Given the description of an element on the screen output the (x, y) to click on. 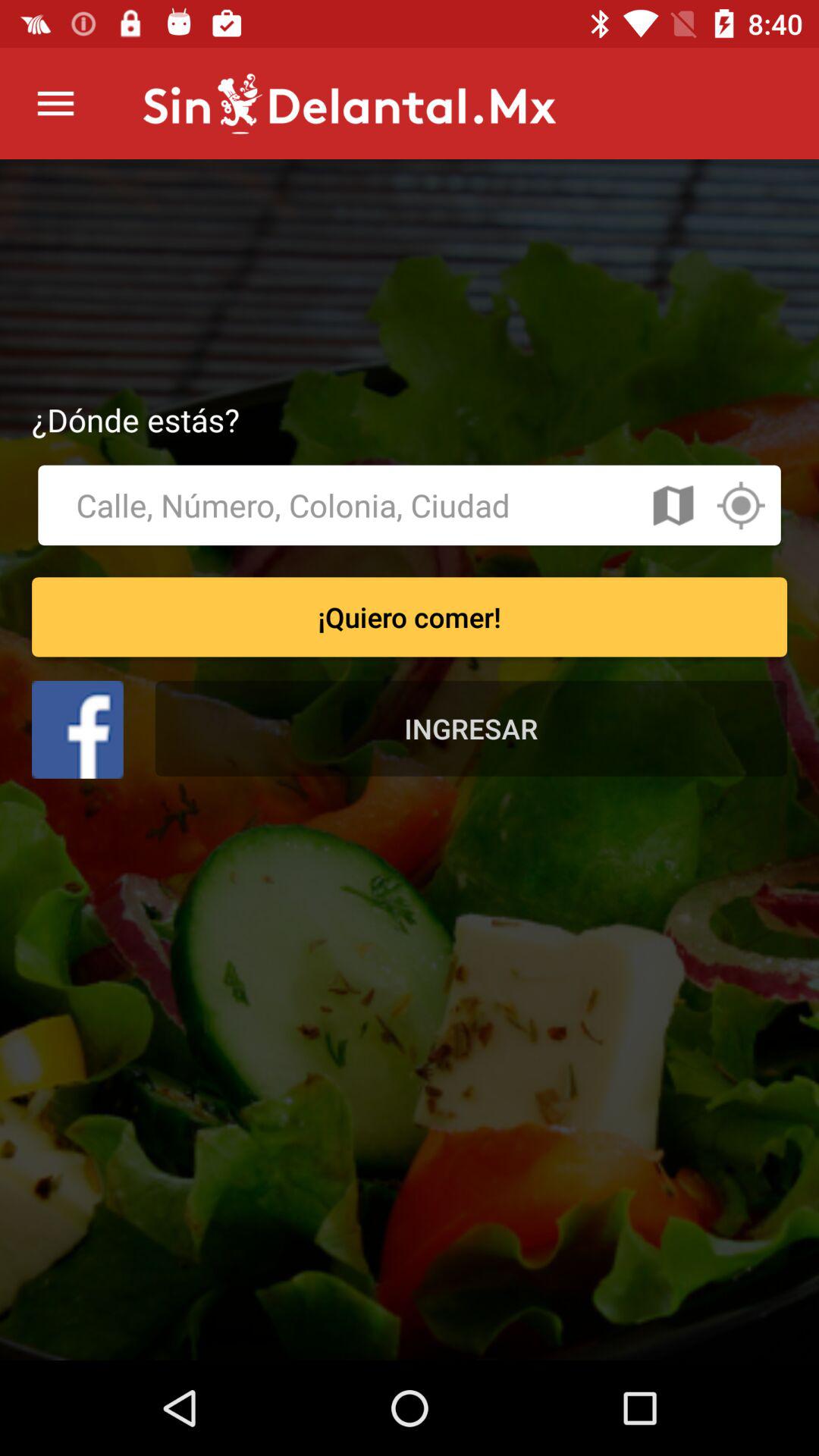
open facebook (77, 729)
